Given the description of an element on the screen output the (x, y) to click on. 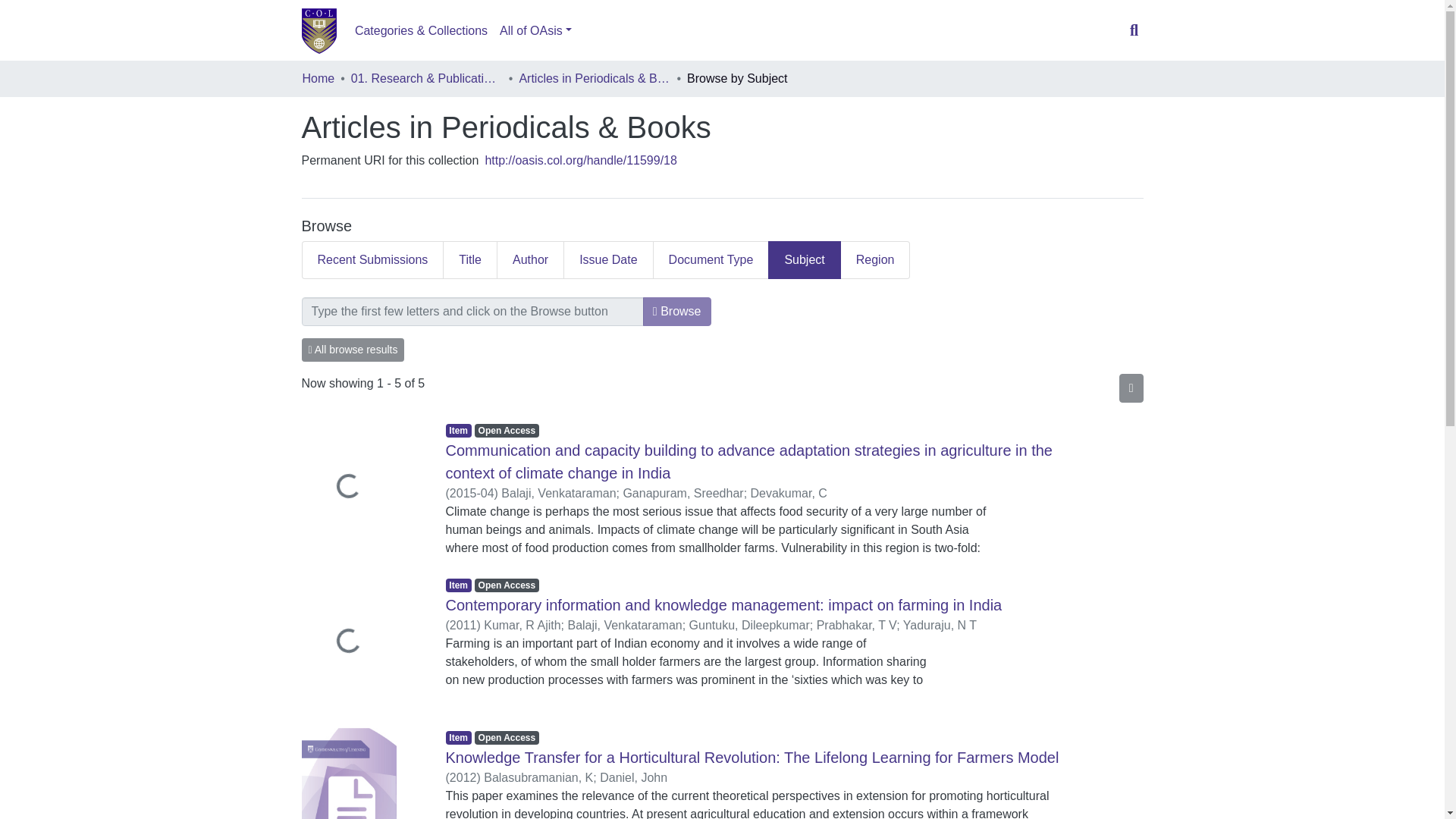
Subject (804, 259)
Loading... (362, 642)
Document Type (711, 259)
Region (876, 259)
Loading... (362, 487)
Issue Date (608, 259)
Browse (677, 311)
Author (530, 259)
Recent Submissions (372, 259)
Home (317, 78)
